Given the description of an element on the screen output the (x, y) to click on. 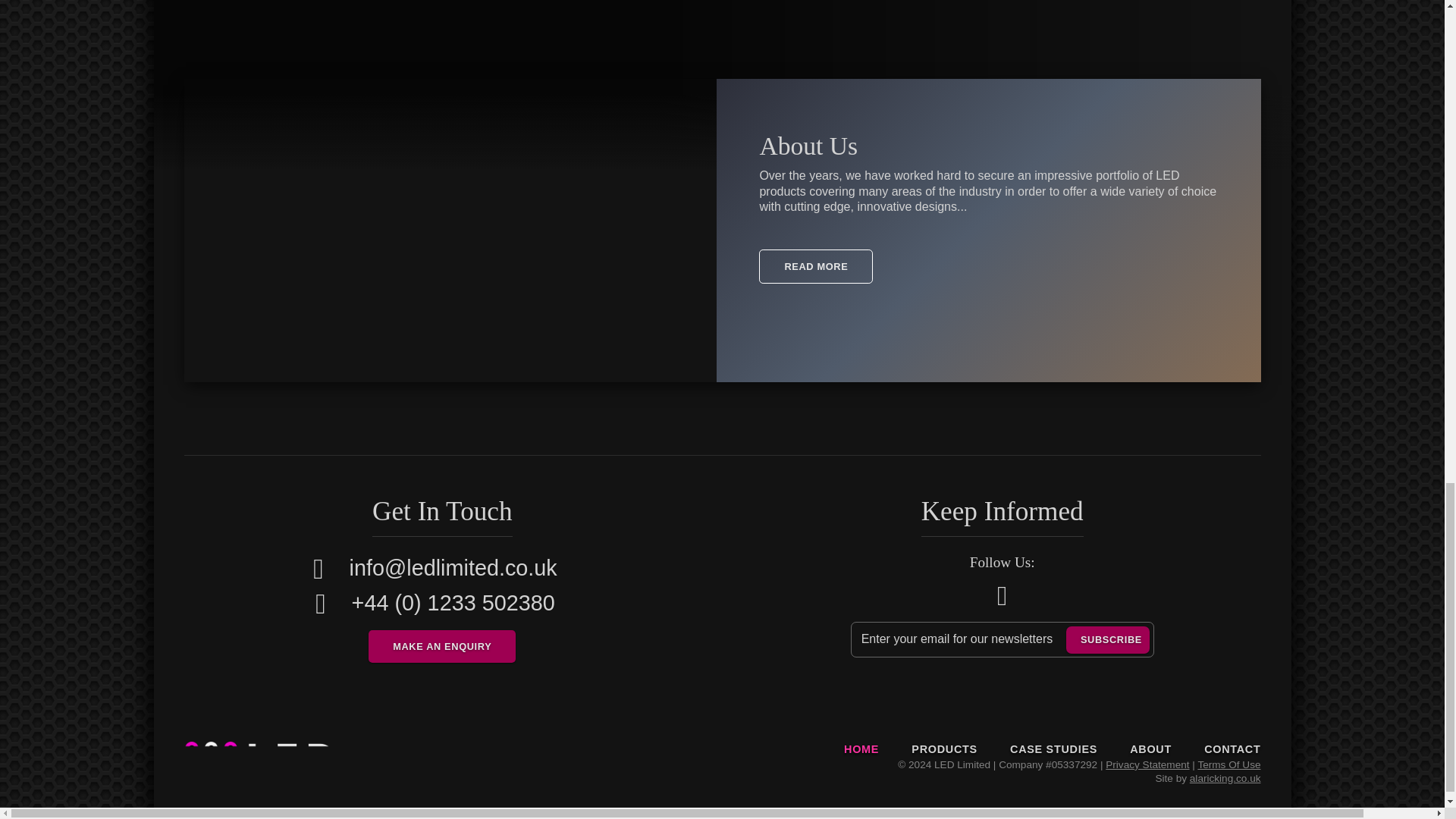
Subscribe (1107, 639)
